Given the description of an element on the screen output the (x, y) to click on. 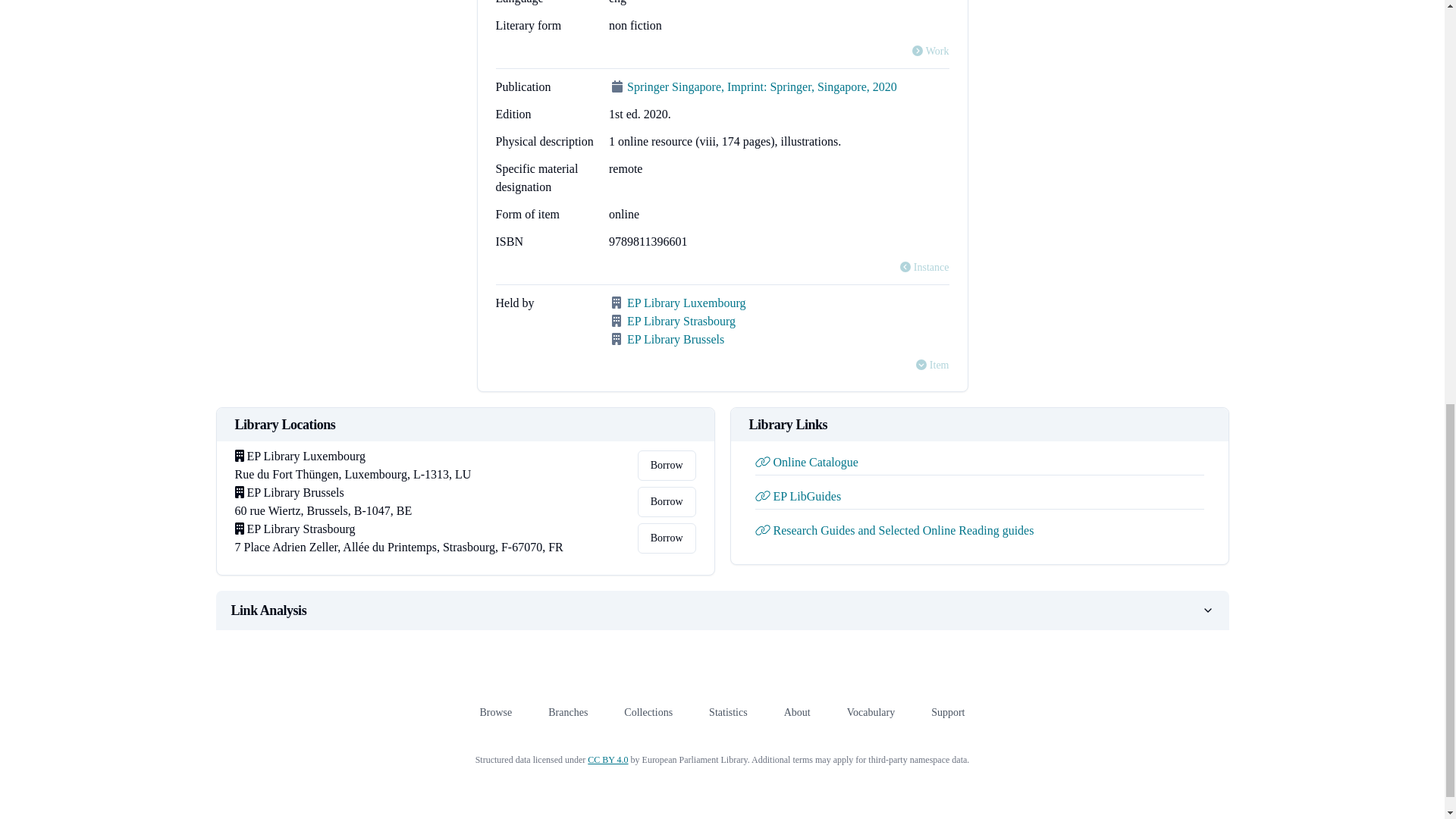
Work (930, 51)
Browse (495, 712)
EP Library Strasbourg (681, 320)
Link Analysis (721, 609)
CC BY 4.0 (607, 759)
Statistics (728, 712)
EP LibGuides (798, 495)
Borrow (666, 501)
Collections (648, 712)
Vocabulary (871, 712)
EP Library Luxembourg (686, 302)
Borrow (666, 538)
Branches (568, 712)
EP Library Brussels (675, 338)
Research Guides and Selected Online Reading guides (894, 530)
